Given the description of an element on the screen output the (x, y) to click on. 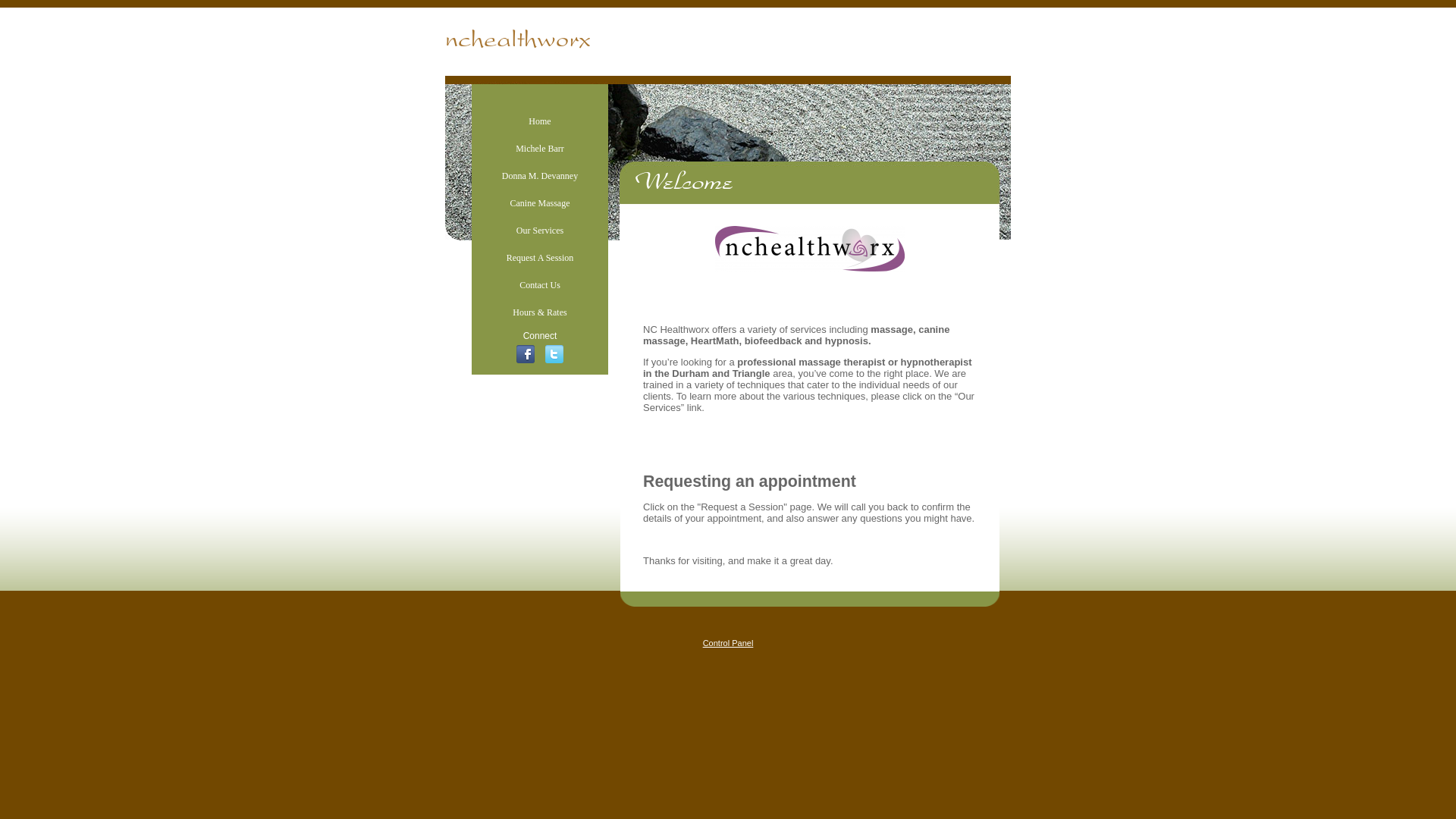
Control Panel (728, 642)
Request A Session (539, 257)
Our Services (539, 230)
Home (539, 121)
Donna M. Devanney (540, 175)
Michele Barr (539, 148)
Contact Us (539, 285)
Canine Massage (539, 203)
